Given the description of an element on the screen output the (x, y) to click on. 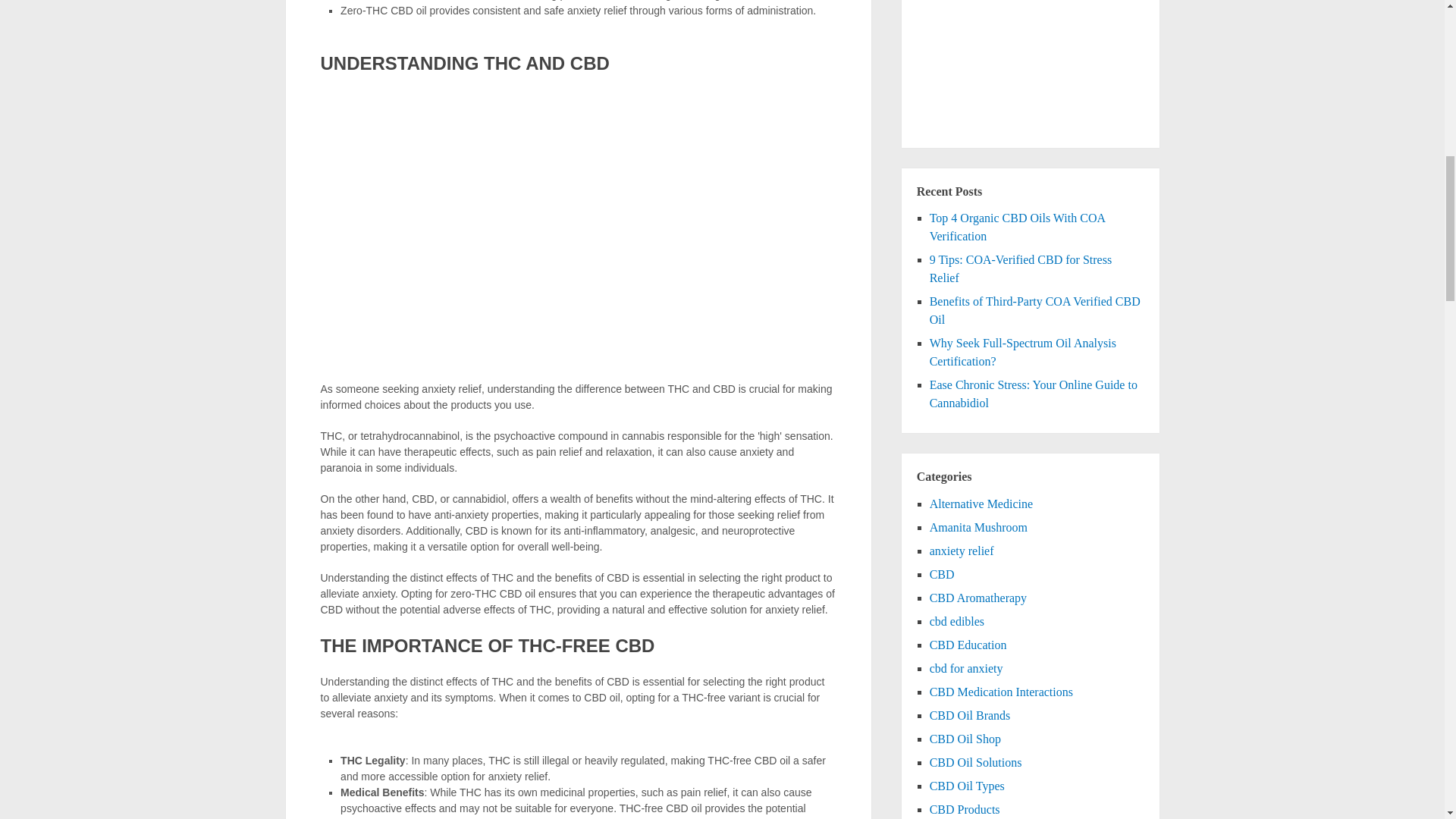
CBD (942, 574)
cbd for anxiety (966, 667)
CBD Aromatherapy (978, 597)
9 Tips: COA-Verified CBD for Stress Relief (1021, 268)
Top 4 Organic CBD Oils With COA Verification (1017, 226)
Alternative Medicine (981, 503)
anxiety relief (962, 550)
cbd edibles (957, 621)
Ease Chronic Stress: Your Online Guide to Cannabidiol (1033, 393)
CBD Education (968, 644)
Why Seek Full-Spectrum Oil Analysis Certification? (1023, 351)
Benefits of Third-Party COA Verified CBD Oil (1035, 309)
Amanita Mushroom (978, 526)
